Given the description of an element on the screen output the (x, y) to click on. 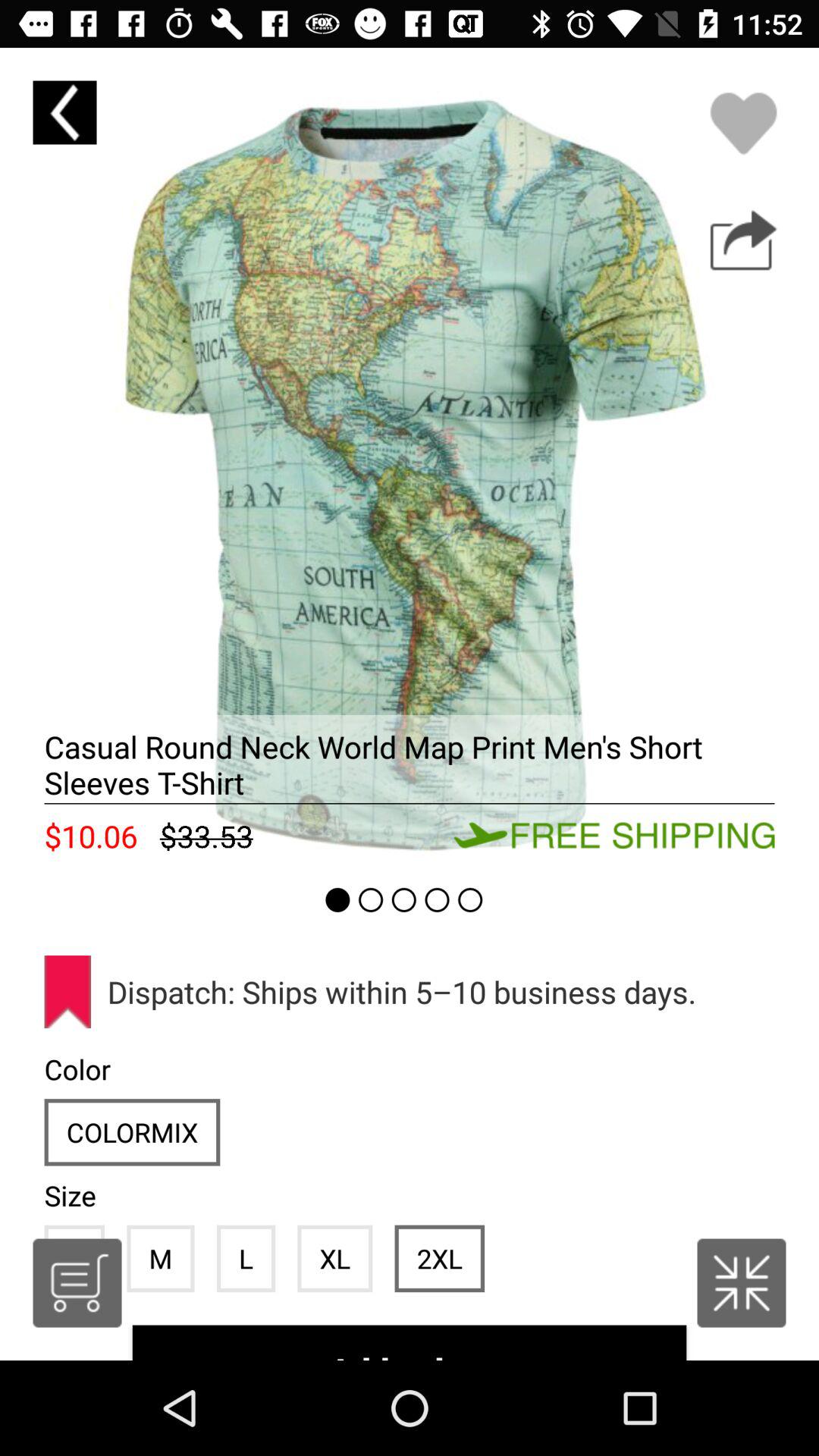
tap icon next to l icon (160, 1258)
